Given the description of an element on the screen output the (x, y) to click on. 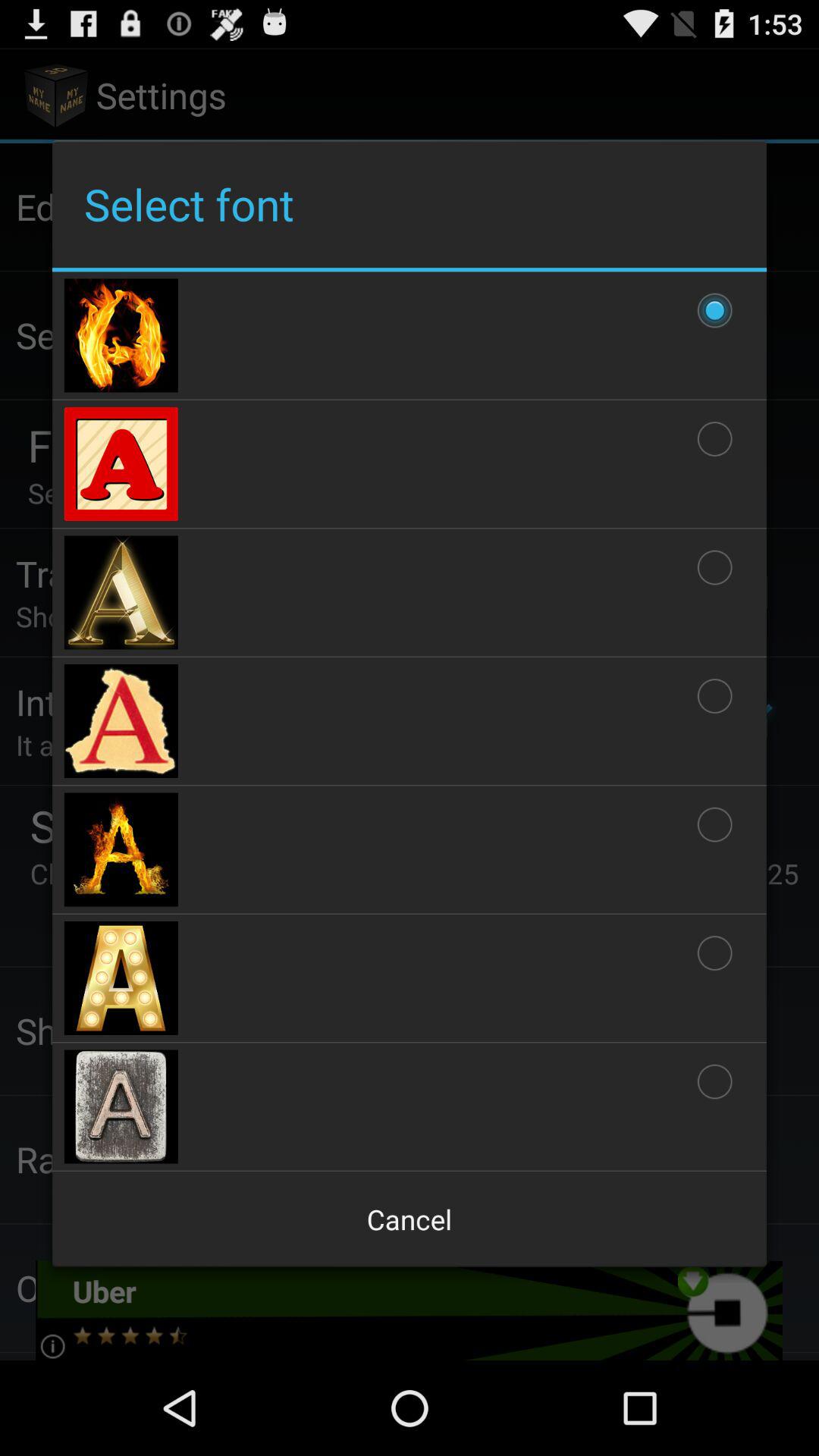
swipe to cancel (409, 1219)
